Given the description of an element on the screen output the (x, y) to click on. 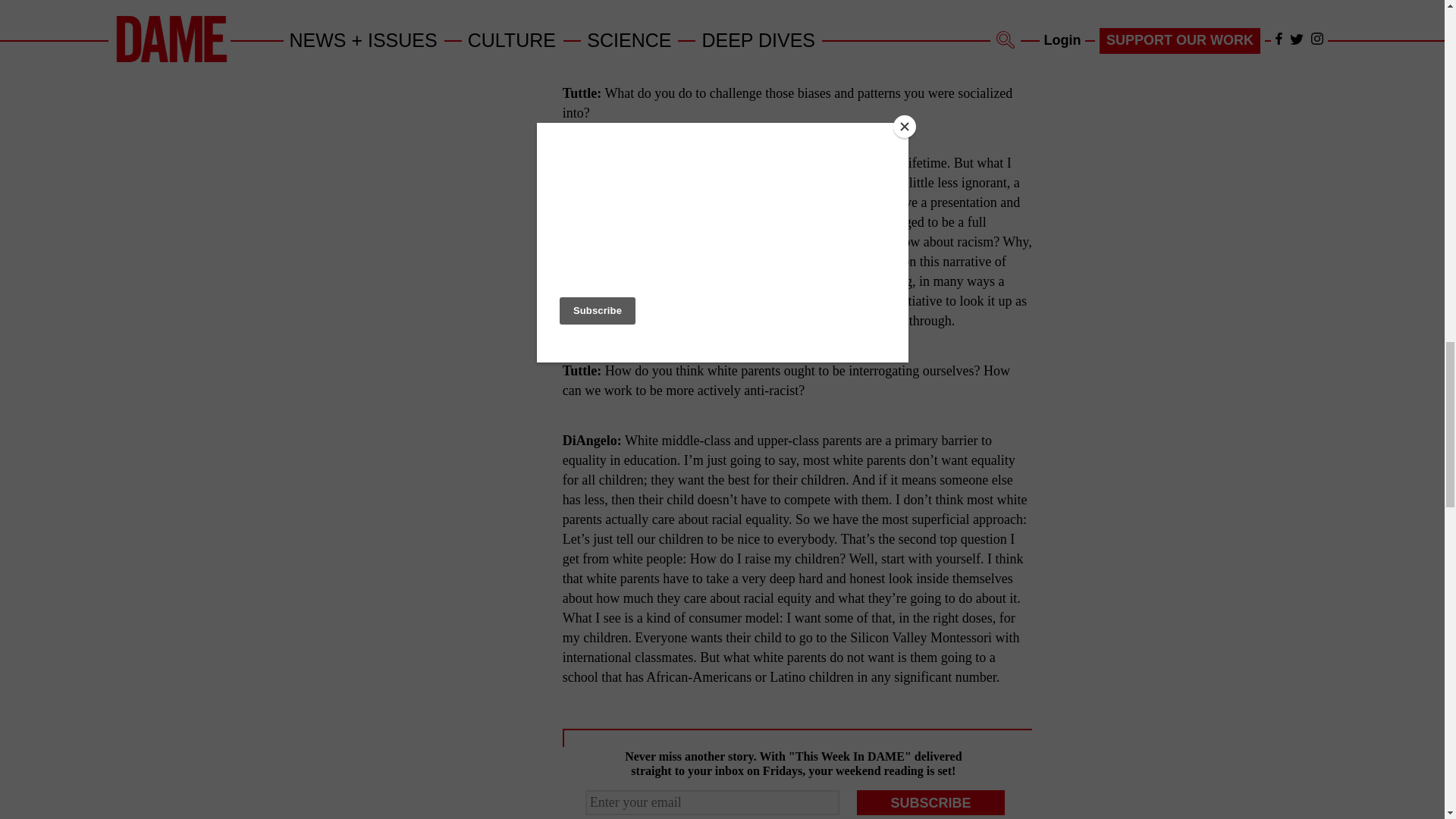
Subscribe (931, 802)
